Given the description of an element on the screen output the (x, y) to click on. 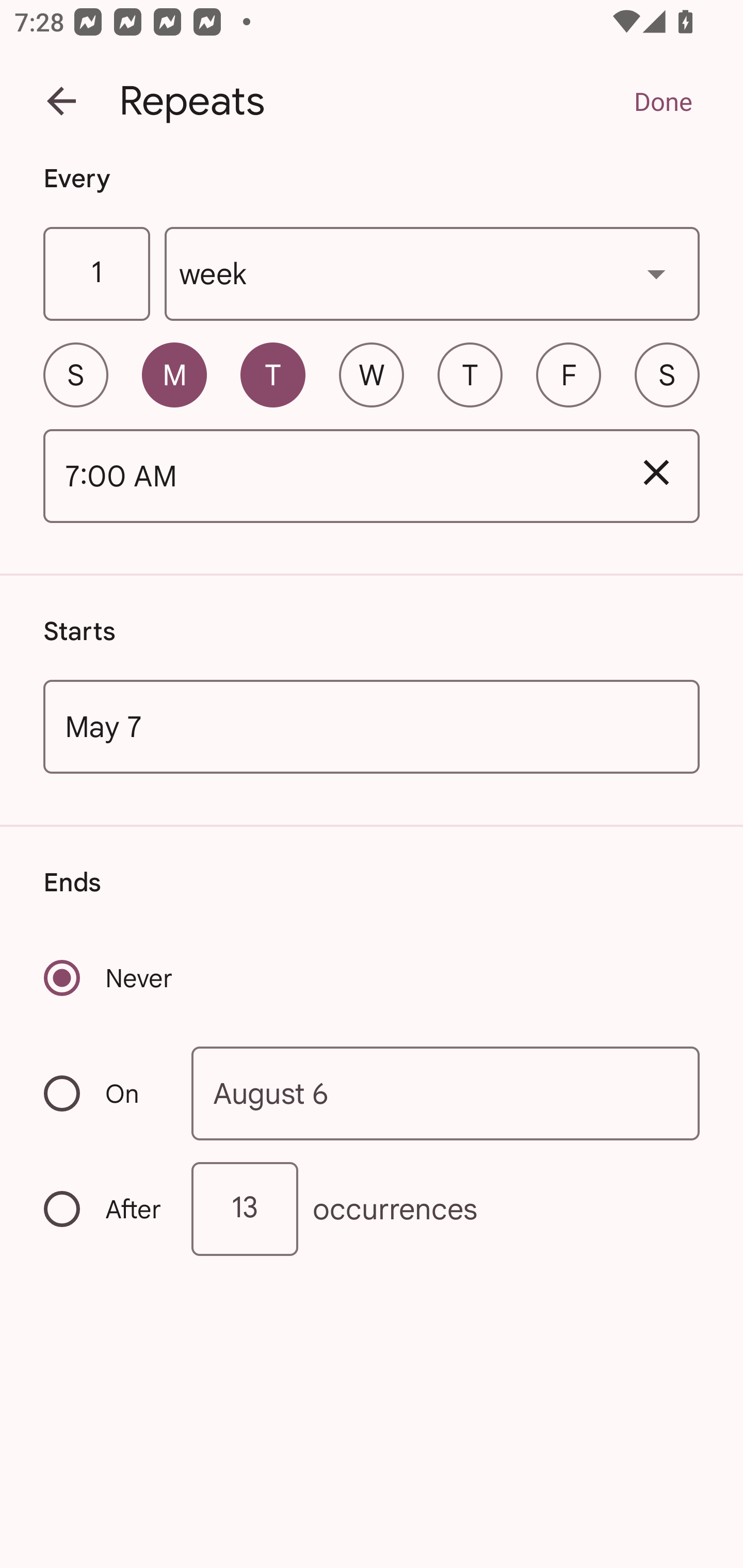
Back (61, 101)
Done (663, 101)
1 (96, 274)
week (431, 274)
Show dropdown menu (655, 273)
S Sunday (75, 374)
M Monday, selected (173, 374)
T Tuesday, selected (272, 374)
W Wednesday (371, 374)
T Thursday (469, 374)
F Friday (568, 374)
S Saturday (666, 374)
7:00 AM (327, 476)
Remove 7:00 AM (655, 472)
May 7 (371, 726)
Never Recurrence never ends (109, 978)
August 6 (445, 1092)
On Recurrence ends on a specific date (104, 1093)
13 (244, 1208)
